Given the description of an element on the screen output the (x, y) to click on. 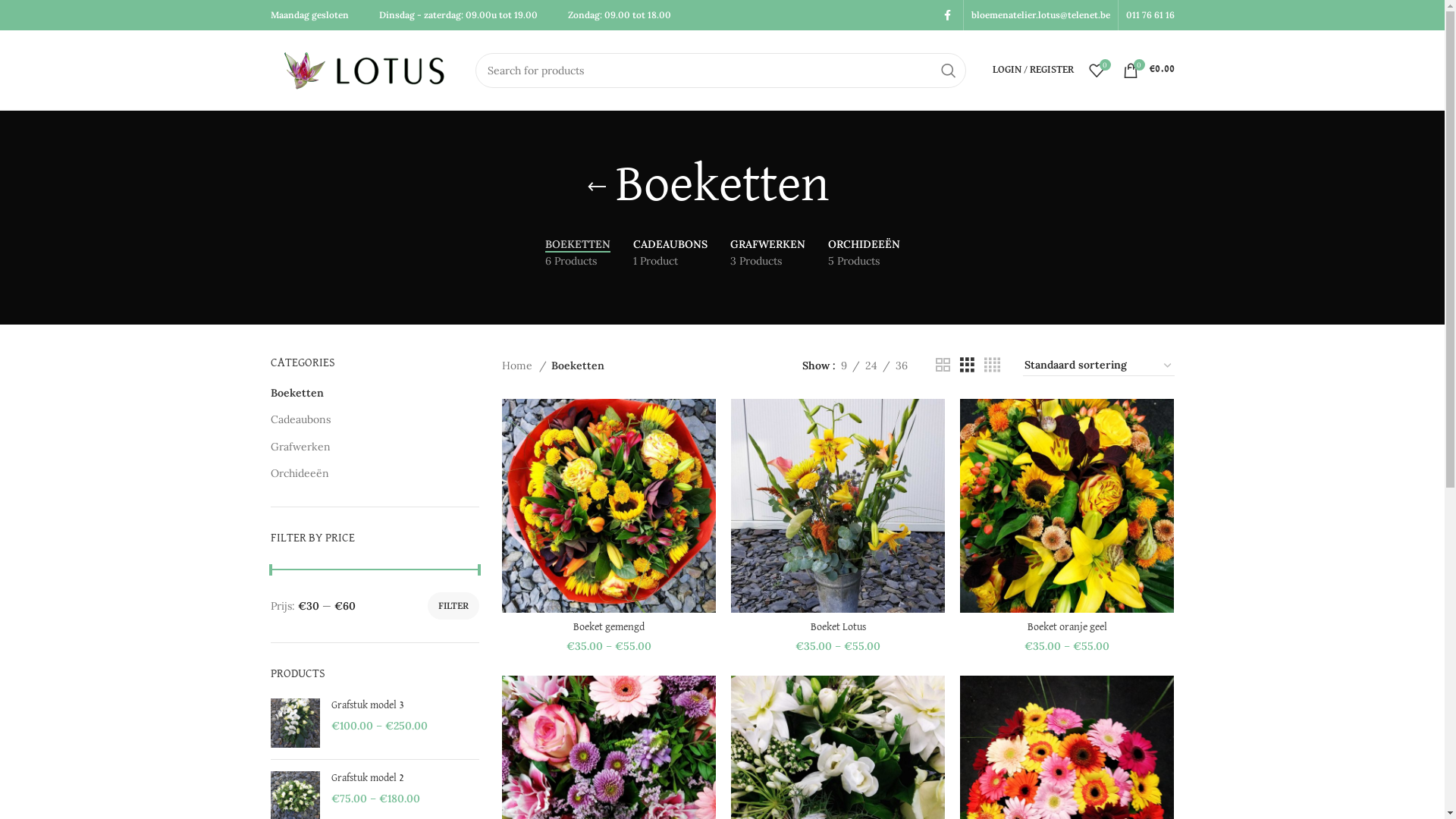
9 Element type: text (843, 365)
LOGIN / REGISTER Element type: text (1032, 69)
Grafstuk model 3 Element type: text (404, 705)
Search for products Element type: hover (719, 70)
GRAFWERKEN
3 Products Element type: text (766, 252)
0 Element type: text (1096, 69)
Cadeaubons Element type: text (364, 419)
BOEKETTEN
6 Products Element type: text (576, 252)
36 Element type: text (901, 365)
Boeket oranje geel Element type: text (1067, 627)
Grafstuk model 2 Element type: text (404, 778)
Home Element type: text (524, 365)
Boeketten Element type: text (364, 393)
bloemenatelier.lotus@telenet.be Element type: text (1039, 14)
Boeket Lotus Element type: text (838, 627)
CADEAUBONS
1 Product Element type: text (669, 252)
Boeket gemengd Element type: text (608, 627)
SEARCH Element type: text (948, 70)
011 76 61 16 Element type: text (1149, 14)
24 Element type: text (870, 365)
Grafstuk model 3 Element type: hover (294, 722)
Grafwerken Element type: text (364, 447)
FILTER Element type: text (453, 605)
